Given the description of an element on the screen output the (x, y) to click on. 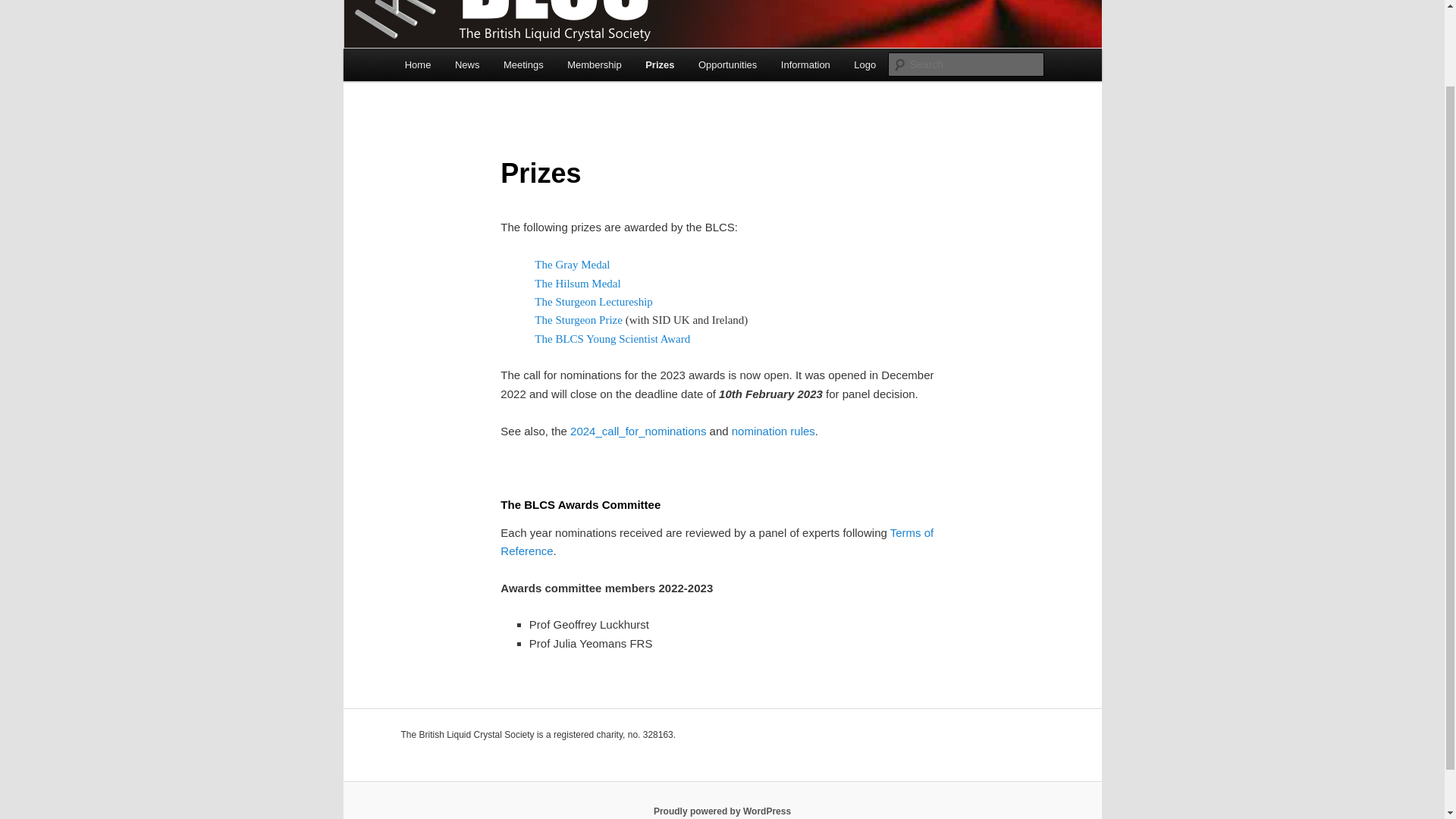
Membership (593, 64)
Information (805, 64)
The Sturgeon Lectureship (593, 301)
The BLCS Young Scientist Award (612, 338)
BLCS (431, 0)
Home (417, 64)
Meetings (523, 64)
Gray Medal (572, 264)
Nominations (773, 430)
